Given the description of an element on the screen output the (x, y) to click on. 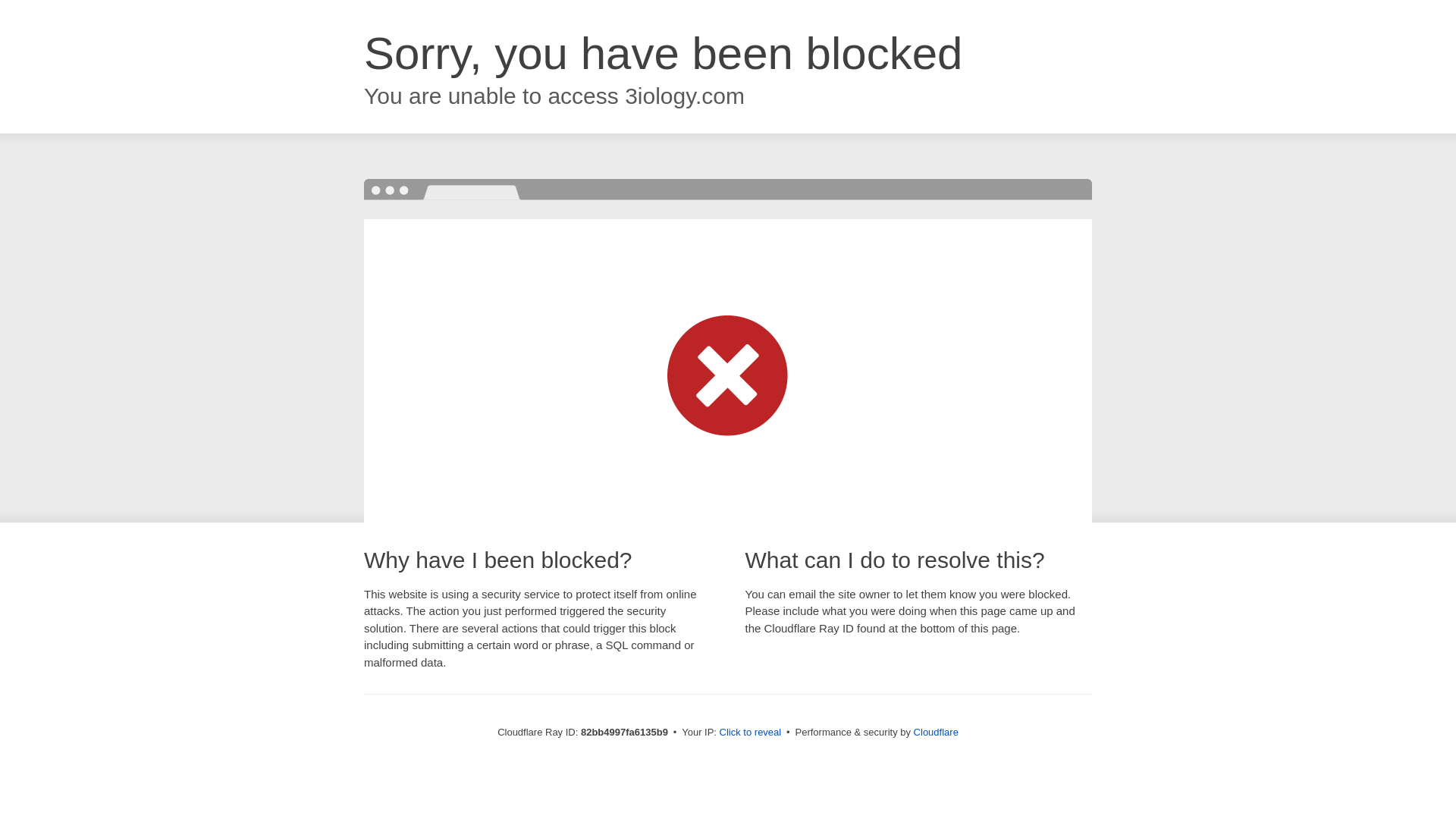
Click to reveal Element type: text (750, 732)
Cloudflare Element type: text (935, 731)
